Given the description of an element on the screen output the (x, y) to click on. 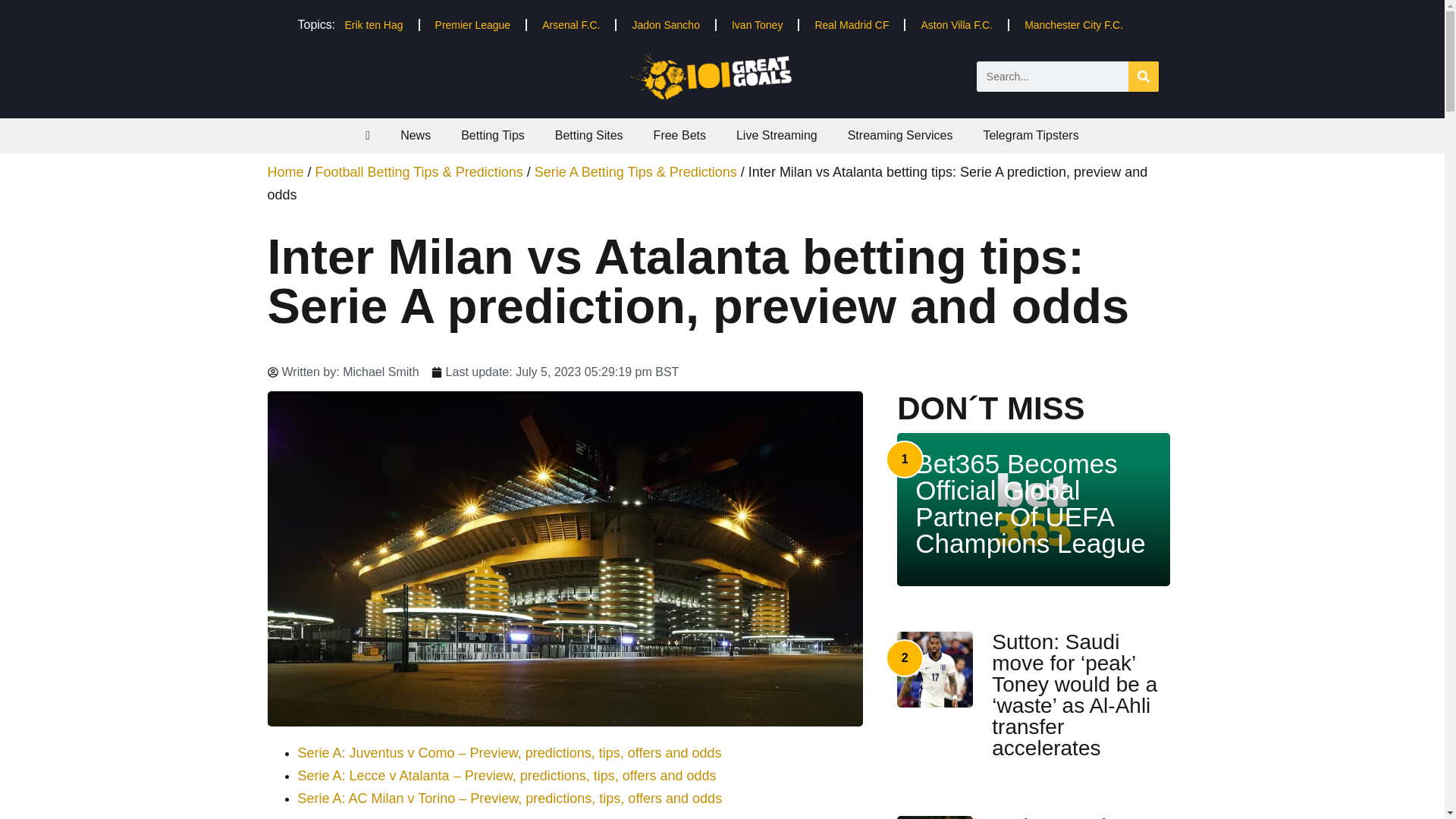
Betting Tips (492, 135)
Jadon Sancho (664, 24)
Premier League (472, 24)
Arsenal F.C. (570, 24)
News (415, 135)
Aston Villa F.C. (956, 24)
Manchester City F.C. (1073, 24)
Erik ten Hag (373, 24)
Ivan Toney (756, 24)
Real Madrid CF (851, 24)
